Given the description of an element on the screen output the (x, y) to click on. 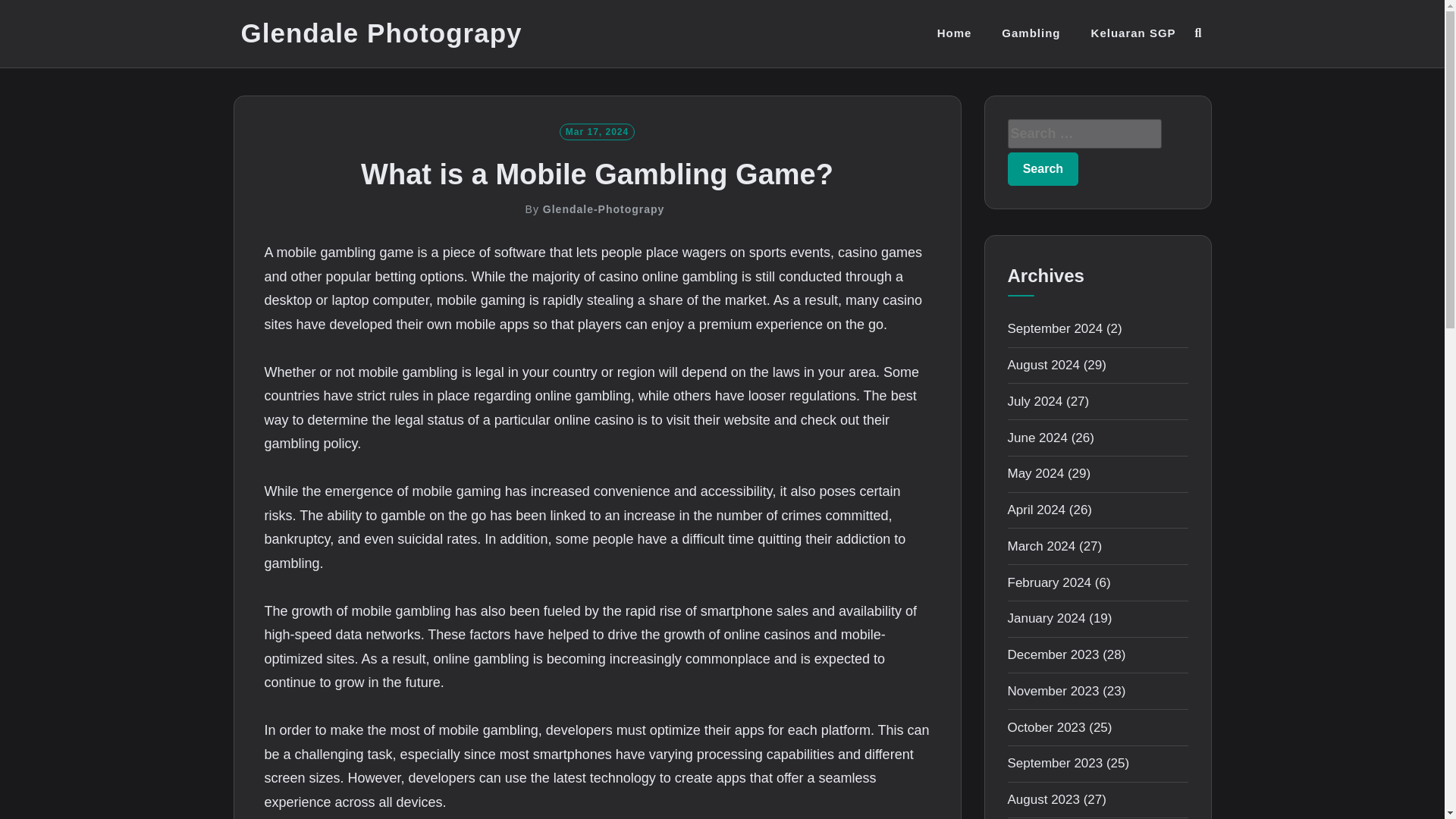
Glendale-Photograpy (604, 209)
Home (954, 33)
October 2023 (1045, 727)
May 2024 (1035, 473)
April 2024 (1036, 509)
August 2024 (1042, 364)
Gambling (1030, 33)
Mar 17, 2024 (596, 130)
March 2024 (1041, 545)
June 2024 (1037, 437)
